Given the description of an element on the screen output the (x, y) to click on. 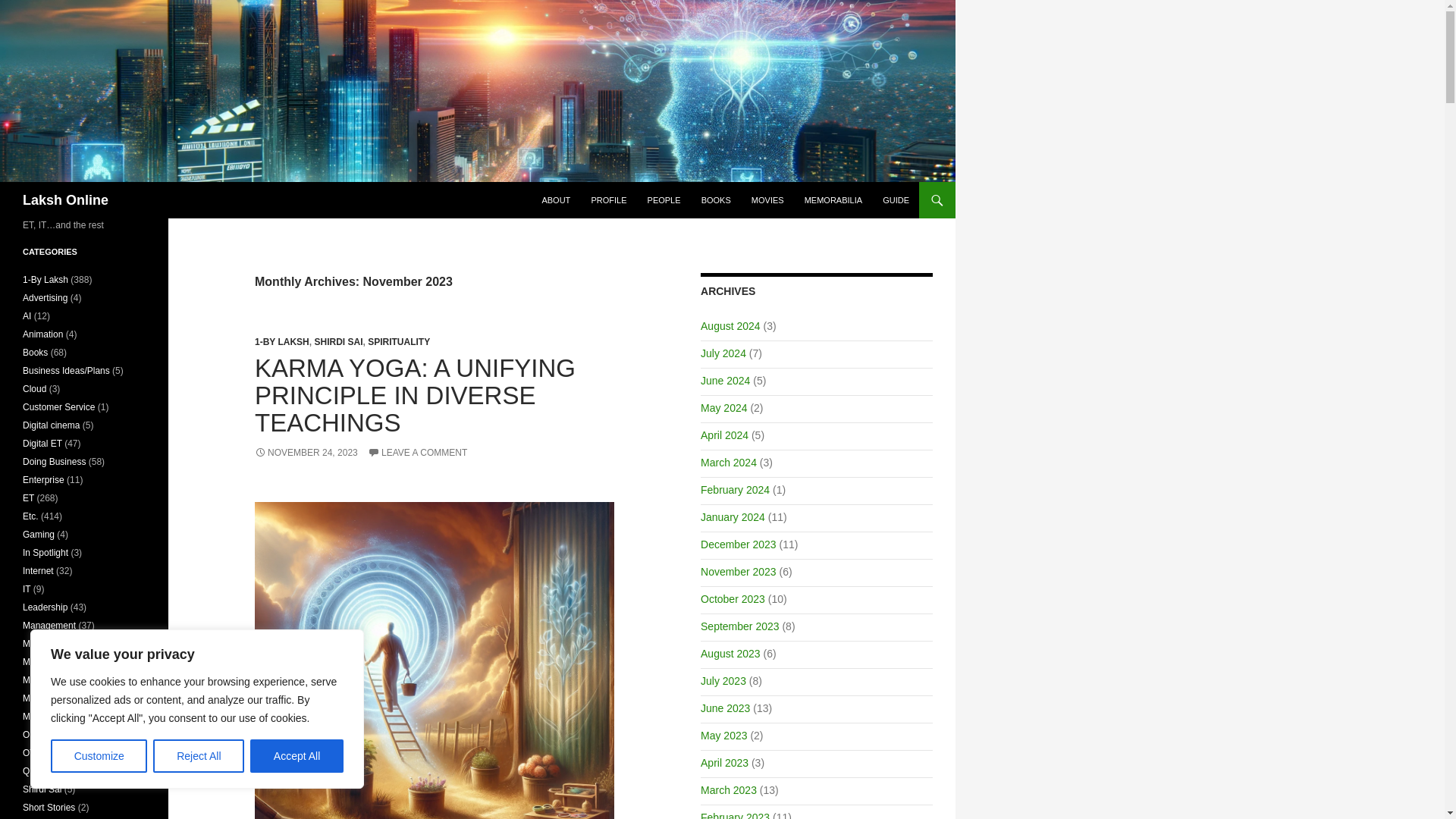
PROFILE (607, 199)
ABOUT (555, 199)
GUIDE (895, 199)
SHIRDI SAI (338, 341)
MOVIES (767, 199)
Reject All (198, 756)
Accept All (296, 756)
BOOKS (716, 199)
NOVEMBER 24, 2023 (306, 452)
